Given the description of an element on the screen output the (x, y) to click on. 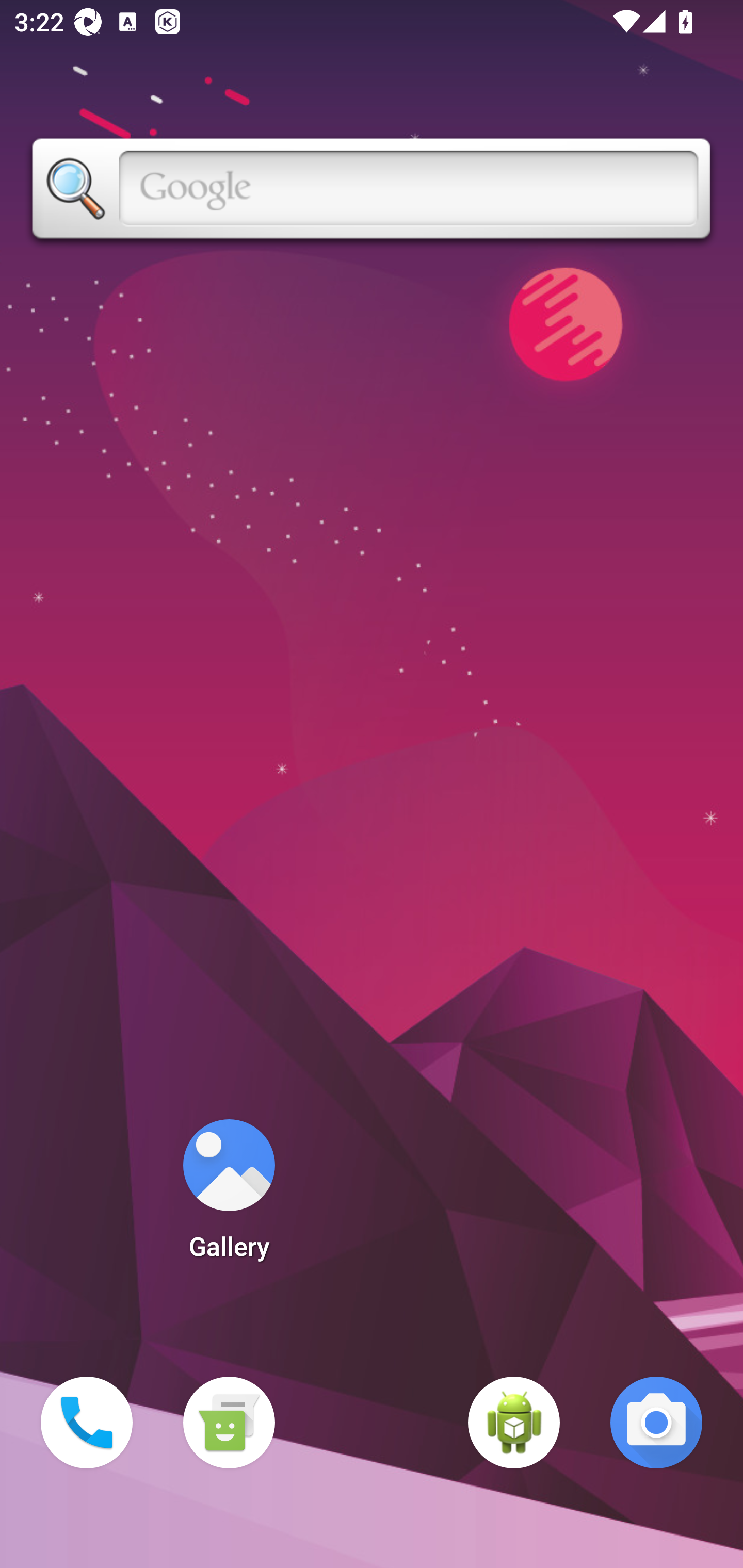
Gallery (228, 1195)
Phone (86, 1422)
Messaging (228, 1422)
WebView Browser Tester (513, 1422)
Camera (656, 1422)
